Given the description of an element on the screen output the (x, y) to click on. 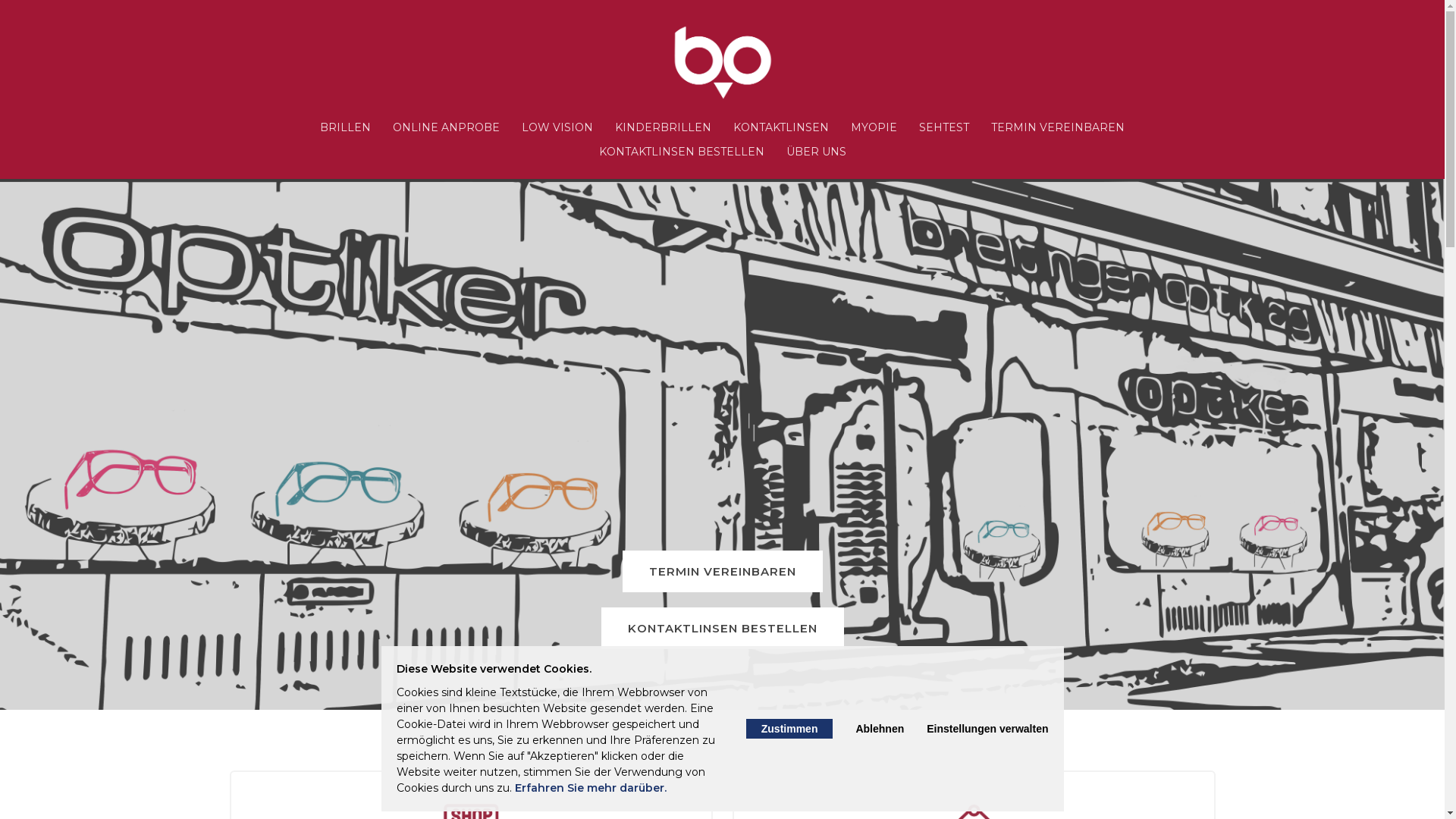
Ablehnen Element type: text (879, 728)
LOW VISION Element type: text (557, 127)
KONTAKTLINSEN BESTELLEN Element type: text (681, 151)
KONTAKTLINSEN BESTELLEN Element type: text (721, 628)
ONLINE ANPROBE Element type: text (445, 127)
BRILLEN Element type: text (344, 127)
TERMIN VEREINBAREN Element type: text (1057, 127)
TERMIN VEREINBAREN Element type: text (721, 571)
SEHTEST Element type: text (944, 127)
MYOPIE Element type: text (873, 127)
KINDERBRILLEN Element type: text (662, 127)
Einstellungen verwalten Element type: text (987, 728)
Zustimmen Element type: text (789, 728)
KONTAKTLINSEN Element type: text (780, 127)
